Given the description of an element on the screen output the (x, y) to click on. 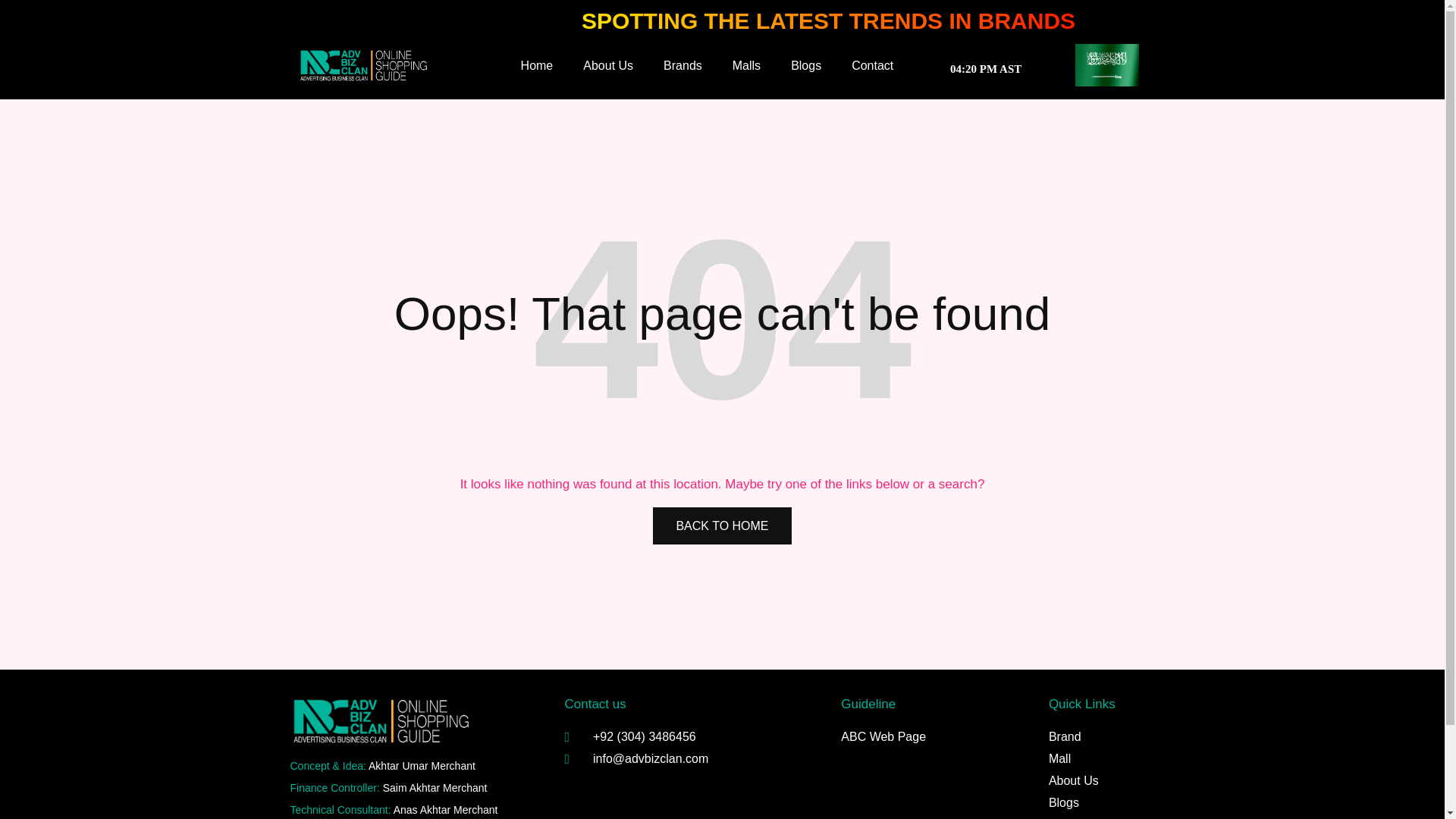
Malls (746, 65)
BACK TO HOME (721, 525)
Brand (1094, 737)
Blogs (1094, 802)
ABC Web Page (929, 737)
About Us (1094, 781)
About Us (608, 65)
Brands (682, 65)
Blogs (805, 65)
Mall (1094, 759)
Home (537, 65)
Contact (872, 65)
